Given the description of an element on the screen output the (x, y) to click on. 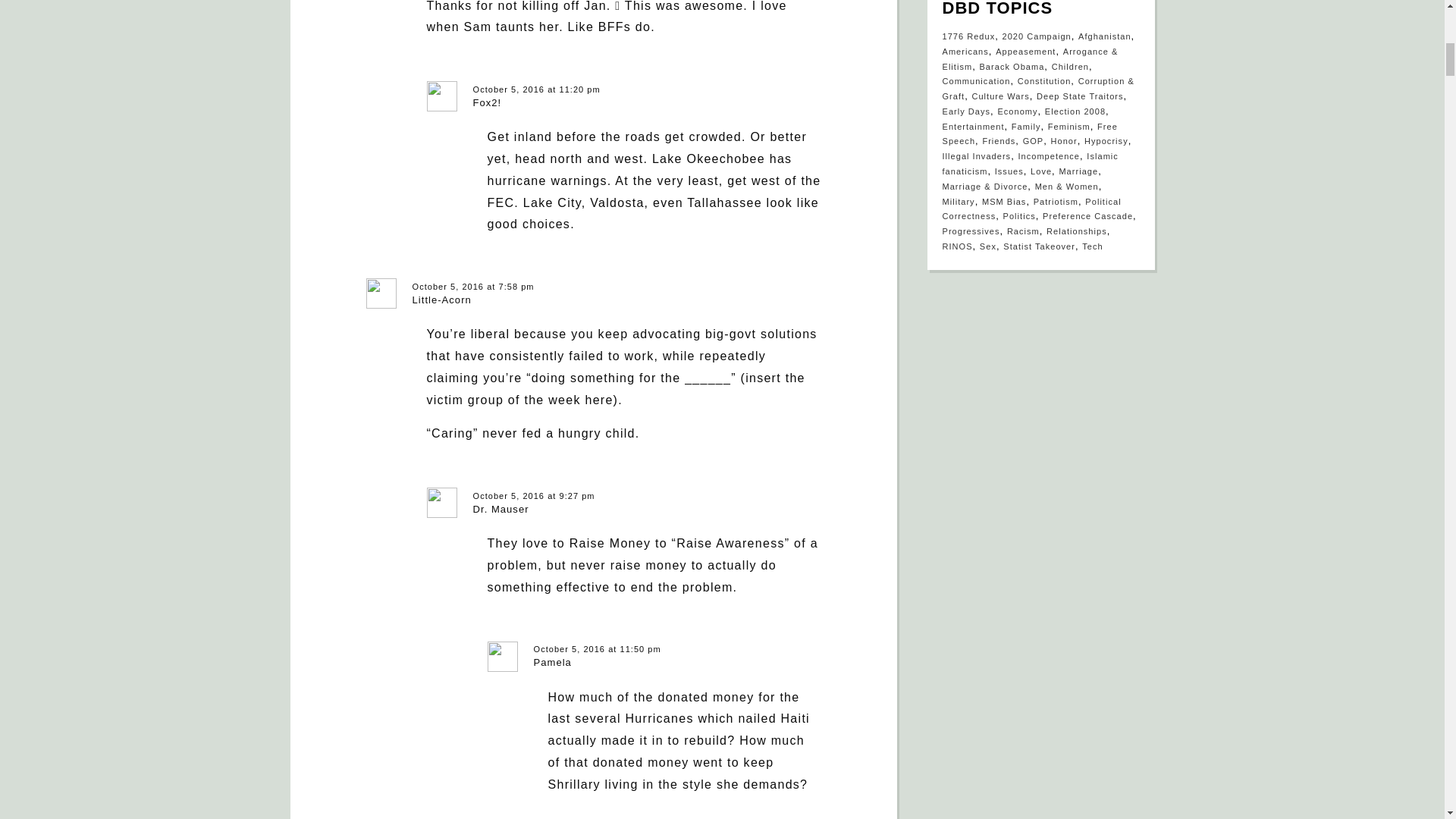
1776 Redux (968, 35)
Dr. Mauser (501, 509)
